Given the description of an element on the screen output the (x, y) to click on. 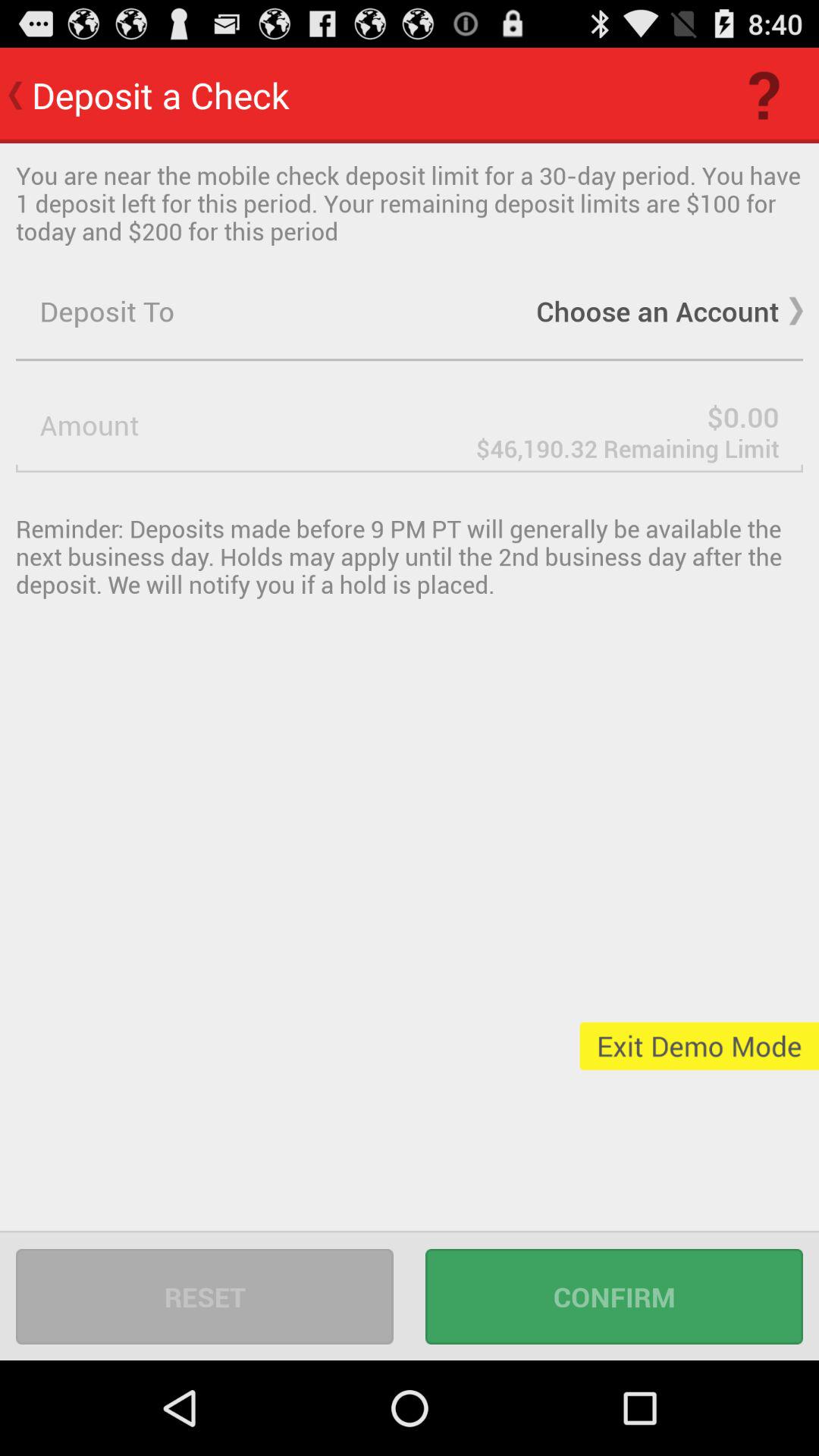
enter amount (409, 424)
